Given the description of an element on the screen output the (x, y) to click on. 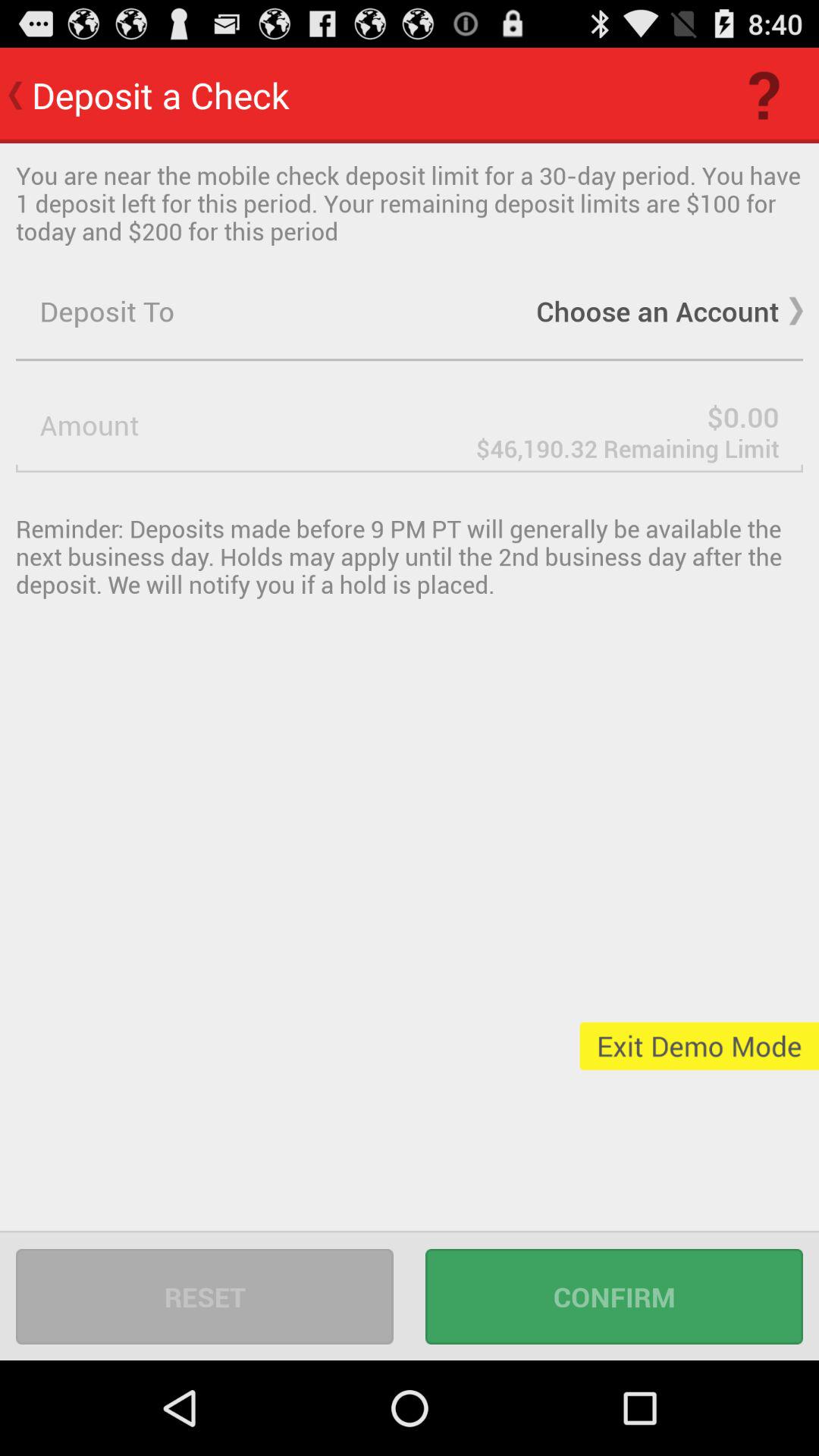
enter amount (409, 424)
